Given the description of an element on the screen output the (x, y) to click on. 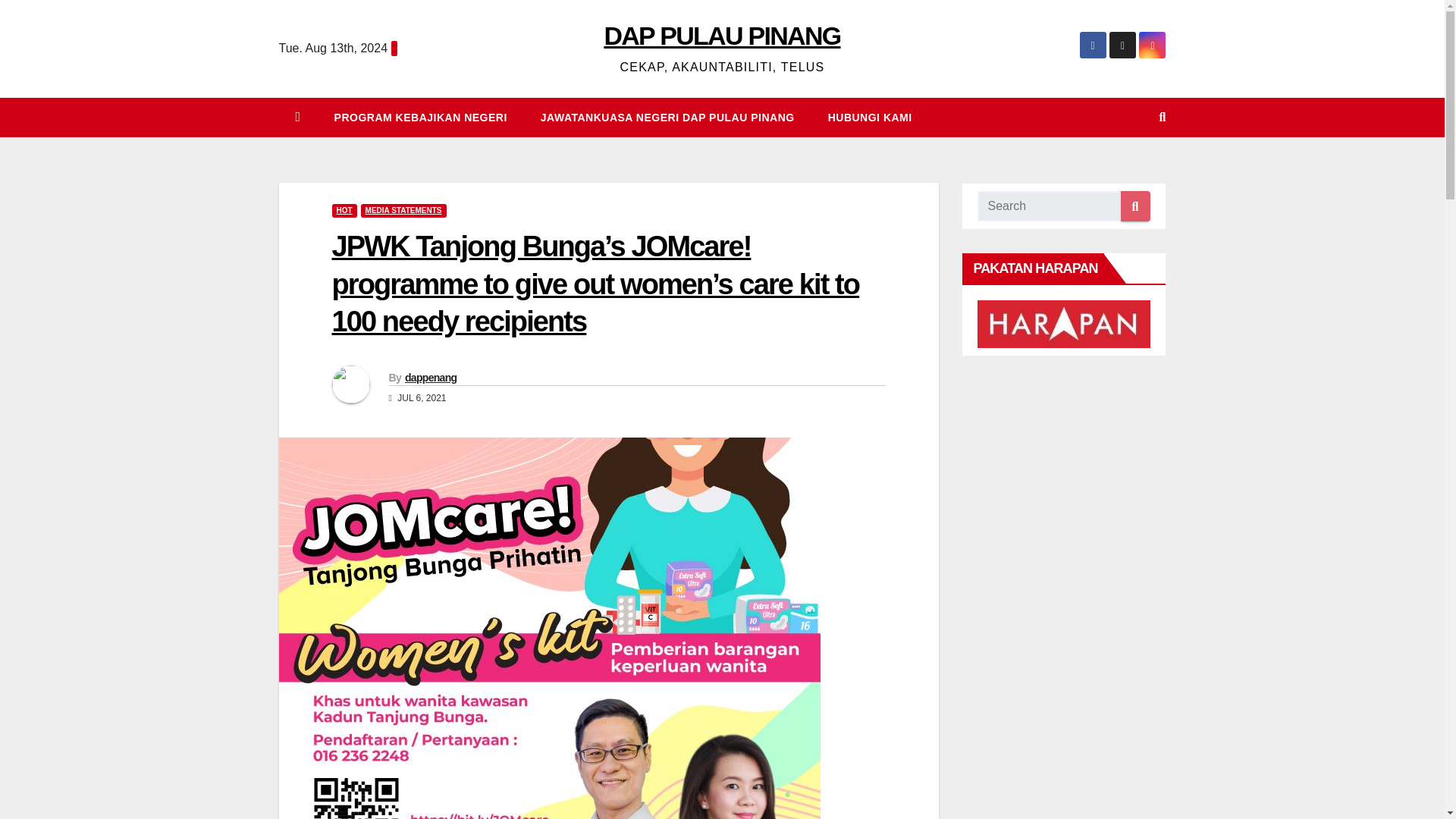
HOT (343, 210)
Jawatankuasa Negeri DAP Pulau Pinang (667, 117)
MEDIA STATEMENTS (403, 210)
DAP PULAU PINANG (722, 35)
HUBUNGI KAMI (869, 117)
dappenang (430, 377)
PROGRAM KEBAJIKAN NEGERI (420, 117)
Hubungi Kami (869, 117)
Program Kebajikan Negeri (420, 117)
JAWATANKUASA NEGERI DAP PULAU PINANG (667, 117)
